Given the description of an element on the screen output the (x, y) to click on. 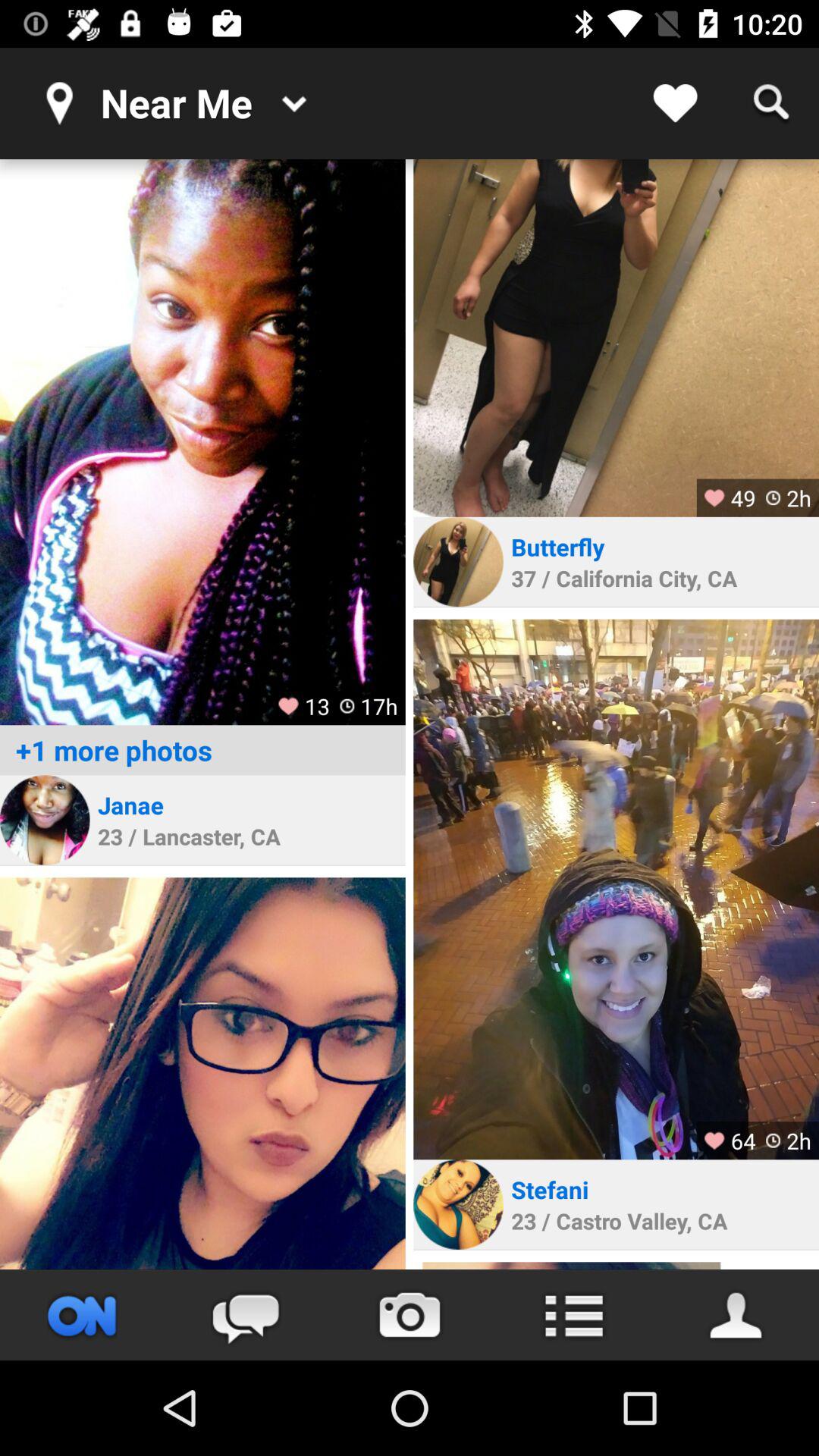
open the icon above the 23 / lancaster, ca icon (130, 804)
